Given the description of an element on the screen output the (x, y) to click on. 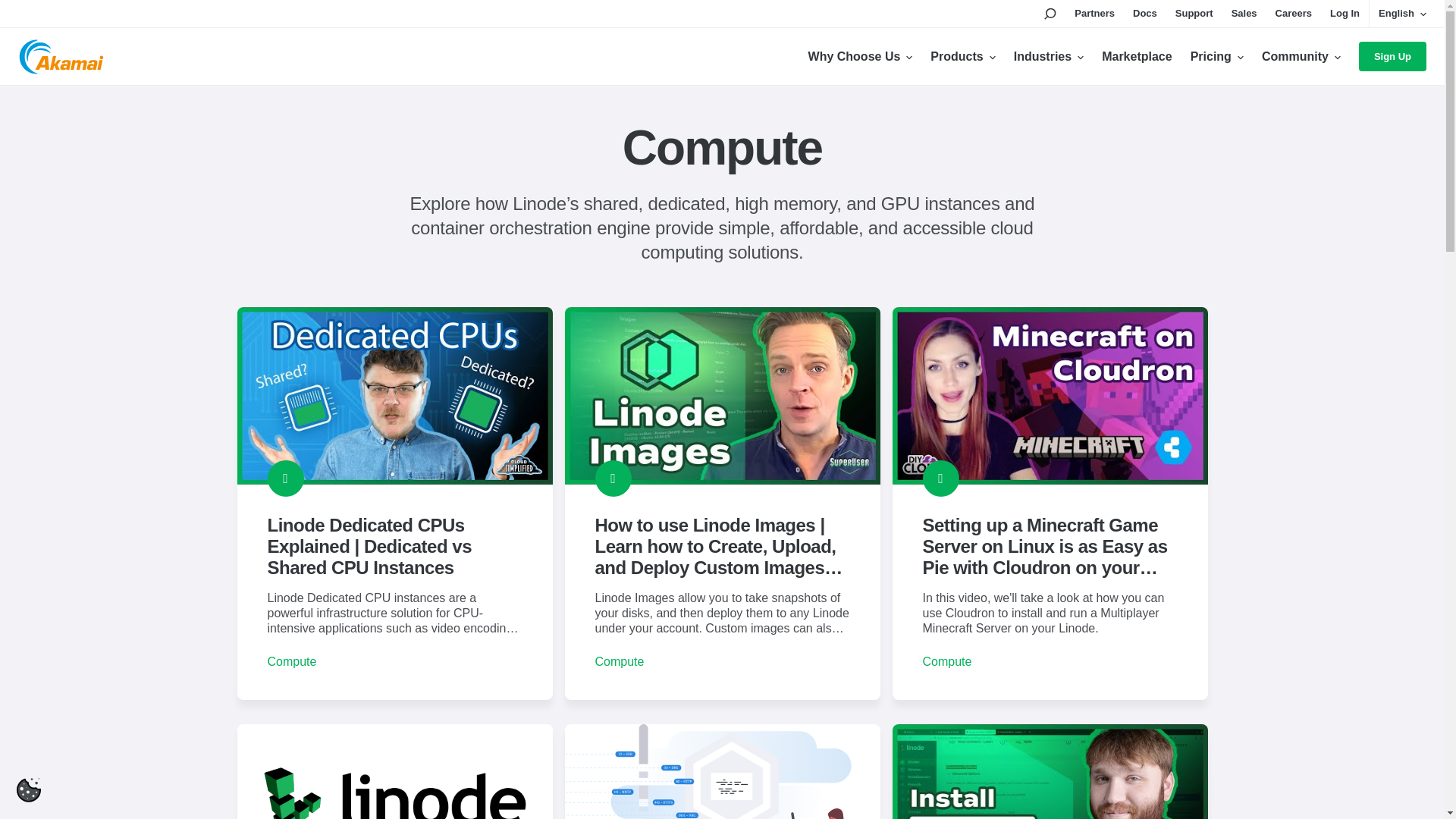
Sales (1244, 13)
Managed Databases (721, 771)
Installing and Configuring Redis on Ubuntu 20.04 (393, 771)
Support (1193, 13)
Products (962, 55)
Why Choose Us (860, 55)
Partners (1094, 13)
Community (1301, 55)
Log In (1344, 13)
Docs (1144, 13)
